Given the description of an element on the screen output the (x, y) to click on. 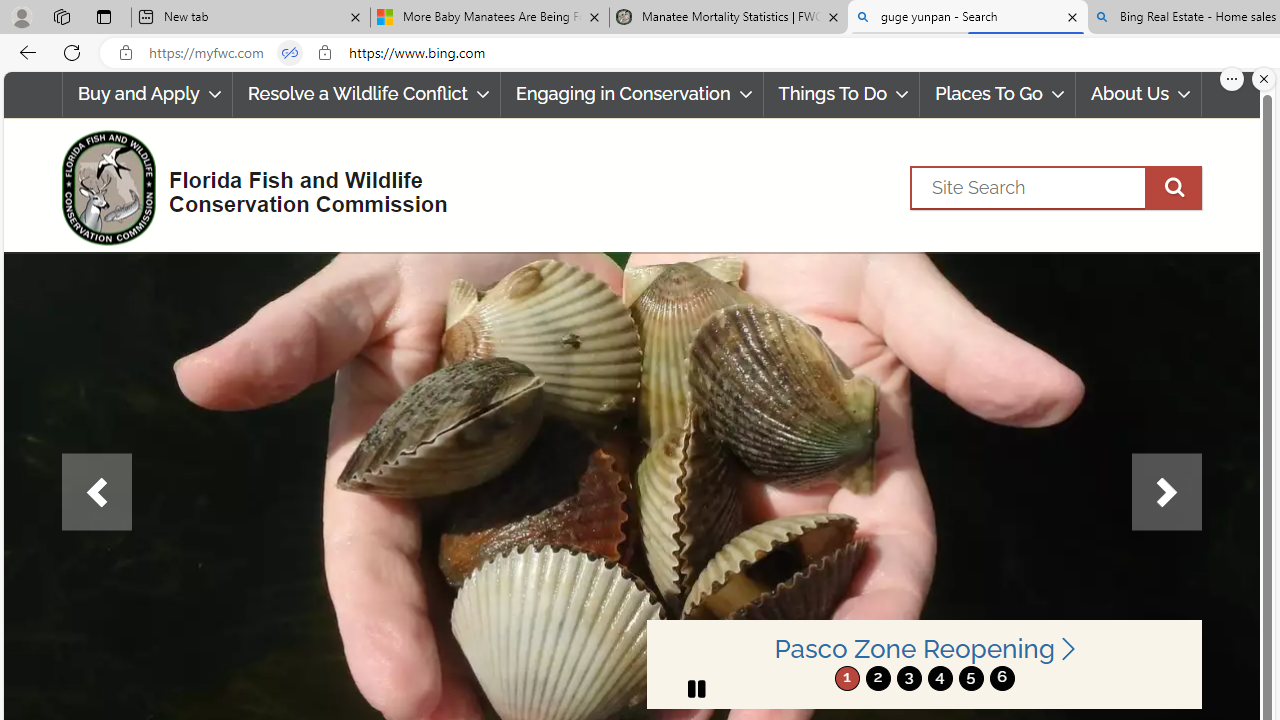
slider pause button (696, 688)
About Us (1138, 94)
move to slide 2 (877, 678)
Next (1166, 491)
Resolve a Wildlife Conflict (365, 94)
1 (847, 678)
Close split screen. (1264, 79)
Places To Go (998, 94)
About Us (1139, 94)
Back (24, 52)
Things To Do (841, 94)
Personal Profile (21, 16)
Engaging in Conservation (632, 94)
move to slide 1 (847, 678)
Close tab (1072, 16)
